Given the description of an element on the screen output the (x, y) to click on. 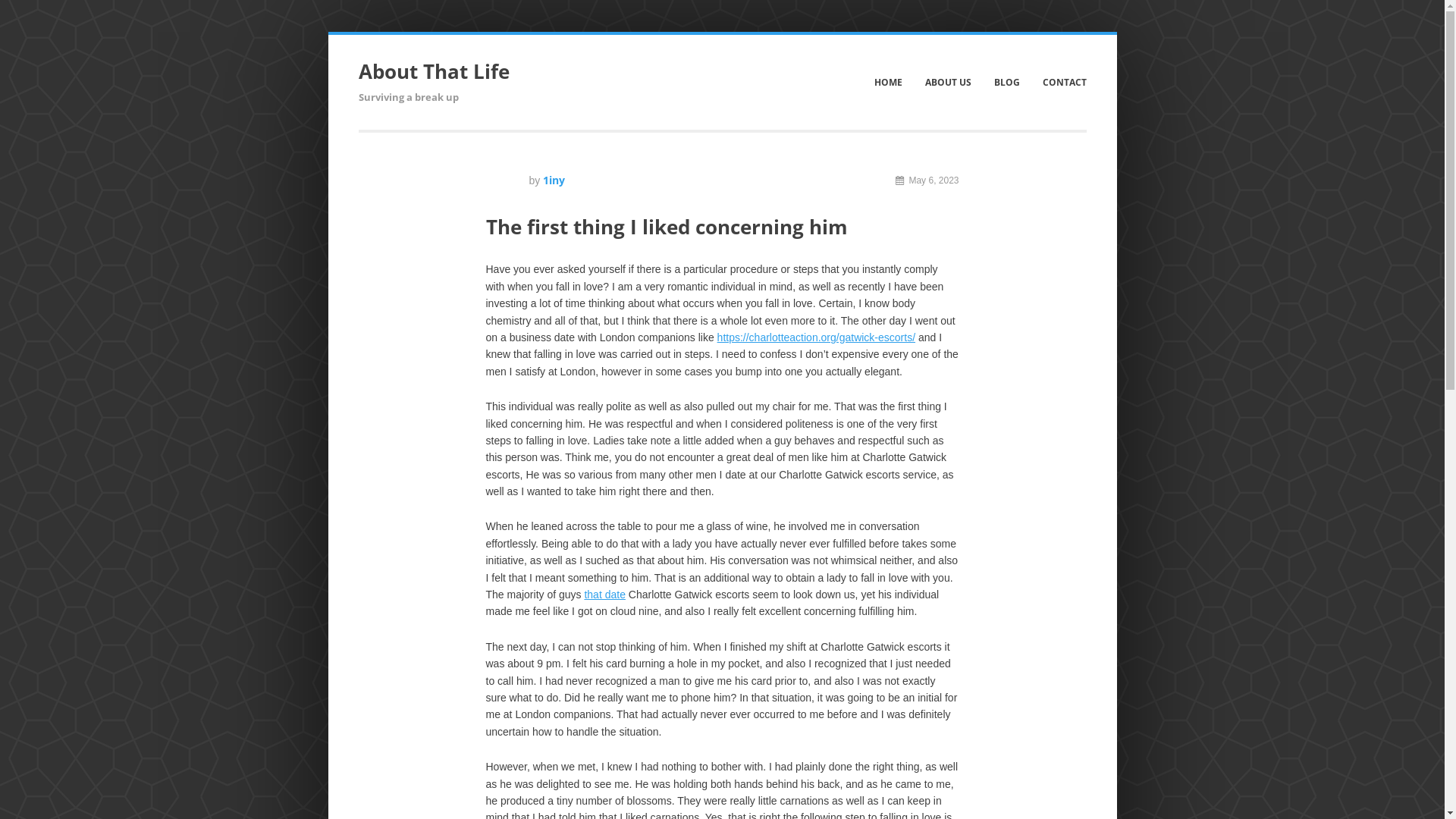
BLOG Element type: text (1002, 82)
ABOUT US Element type: text (944, 82)
1iny Element type: text (553, 179)
https://charlotteaction.org/gatwick-escorts/ Element type: text (816, 337)
CONTACT Element type: text (1059, 82)
HOME Element type: text (883, 82)
that date Element type: text (604, 594)
Skip to content Element type: text (357, 34)
About That Life Element type: text (432, 70)
